Given the description of an element on the screen output the (x, y) to click on. 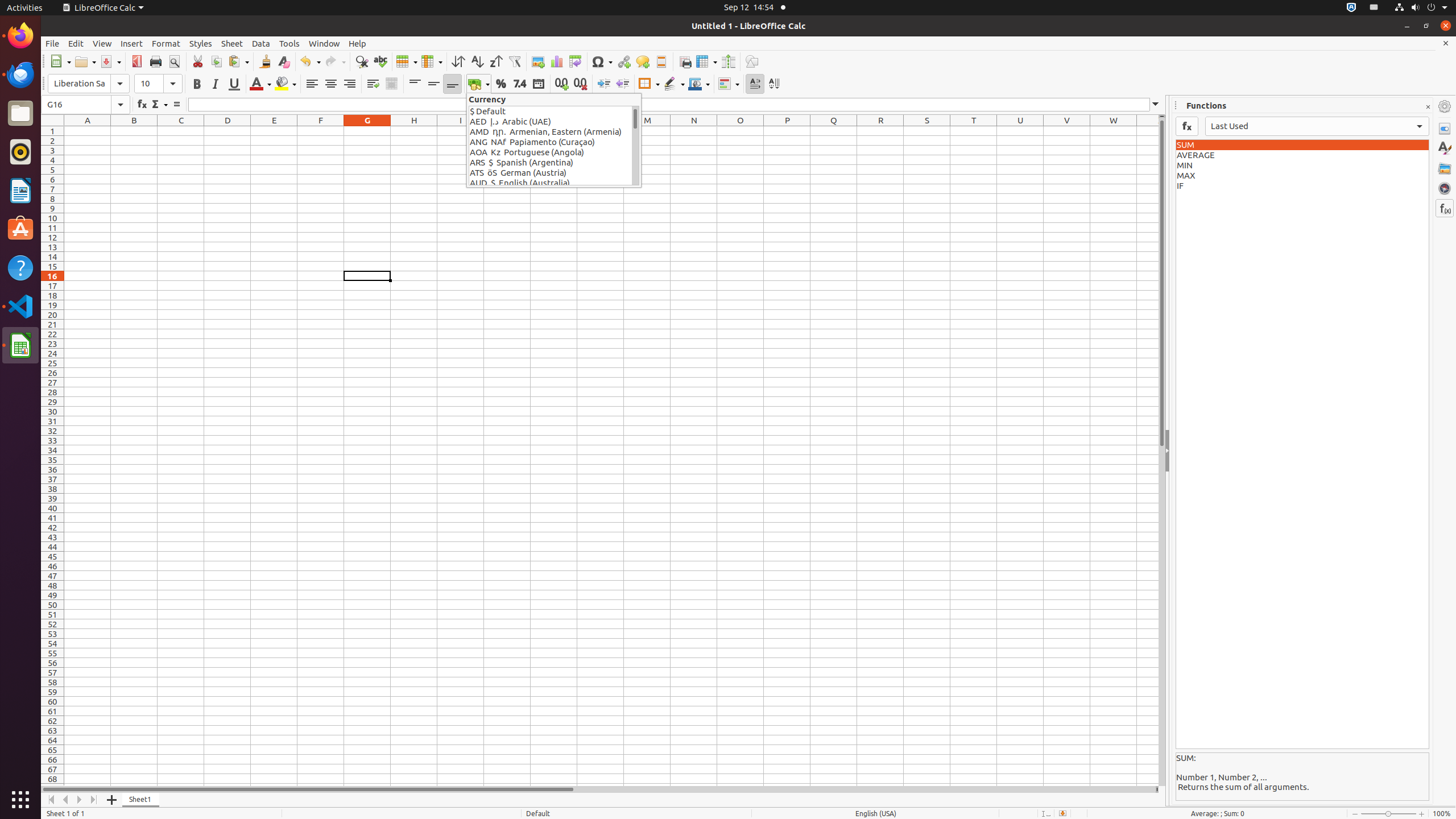
Sort Ascending Element type: push-button (476, 61)
Insert Element type: menu (131, 43)
Move To End Element type: push-button (94, 799)
AutoFilter Element type: push-button (514, 61)
E1 Element type: table-cell (273, 130)
